Given the description of an element on the screen output the (x, y) to click on. 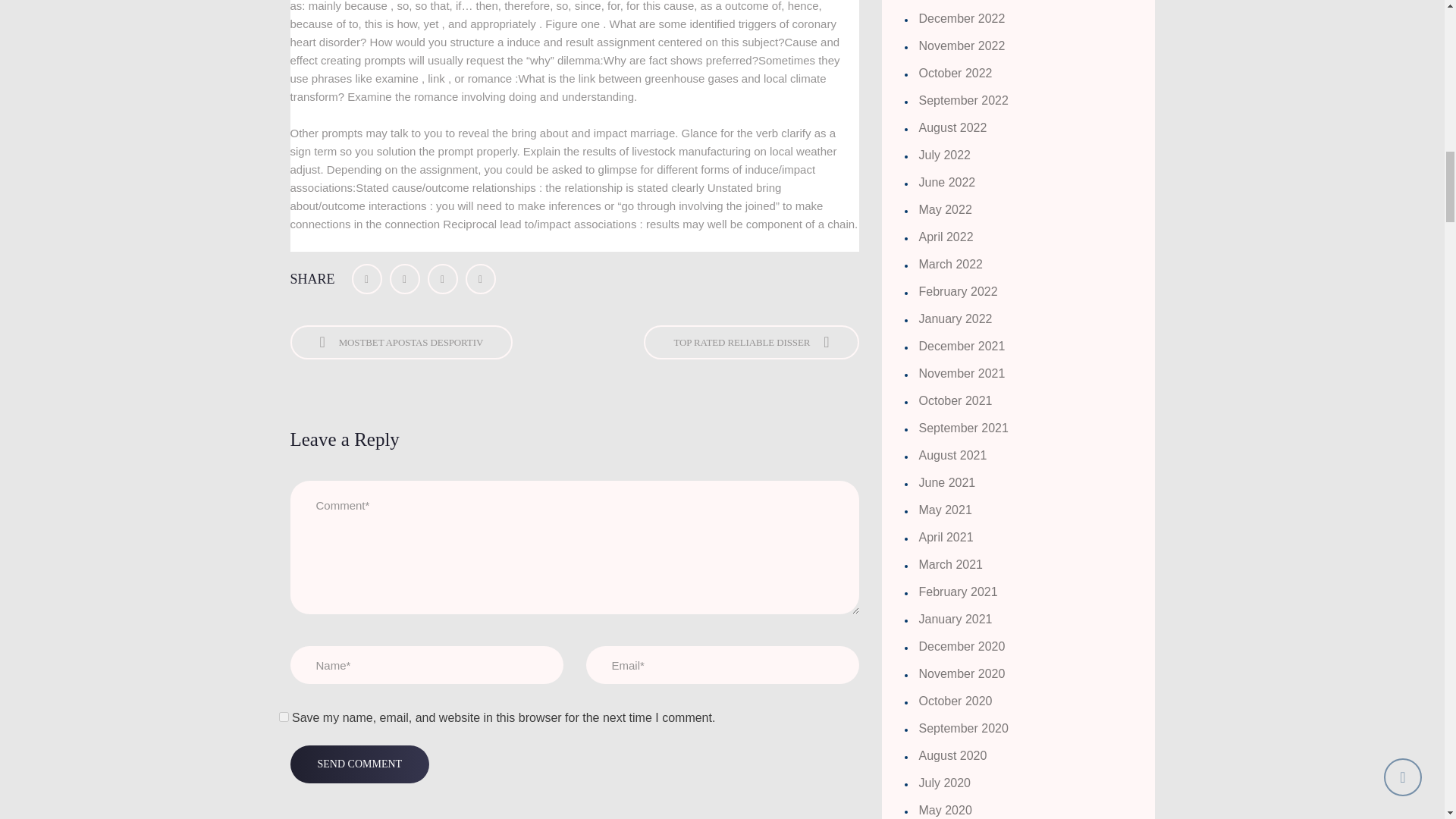
TOP RATED RELIABLE DISSER (751, 342)
Facebook (366, 278)
MOSTBET APOSTAS DESPORTIV (400, 342)
Twitter (405, 278)
Google Plus (443, 278)
Pinterest (480, 278)
SEND COMMENT (359, 763)
SEND COMMENT (359, 763)
yes (283, 716)
